Given the description of an element on the screen output the (x, y) to click on. 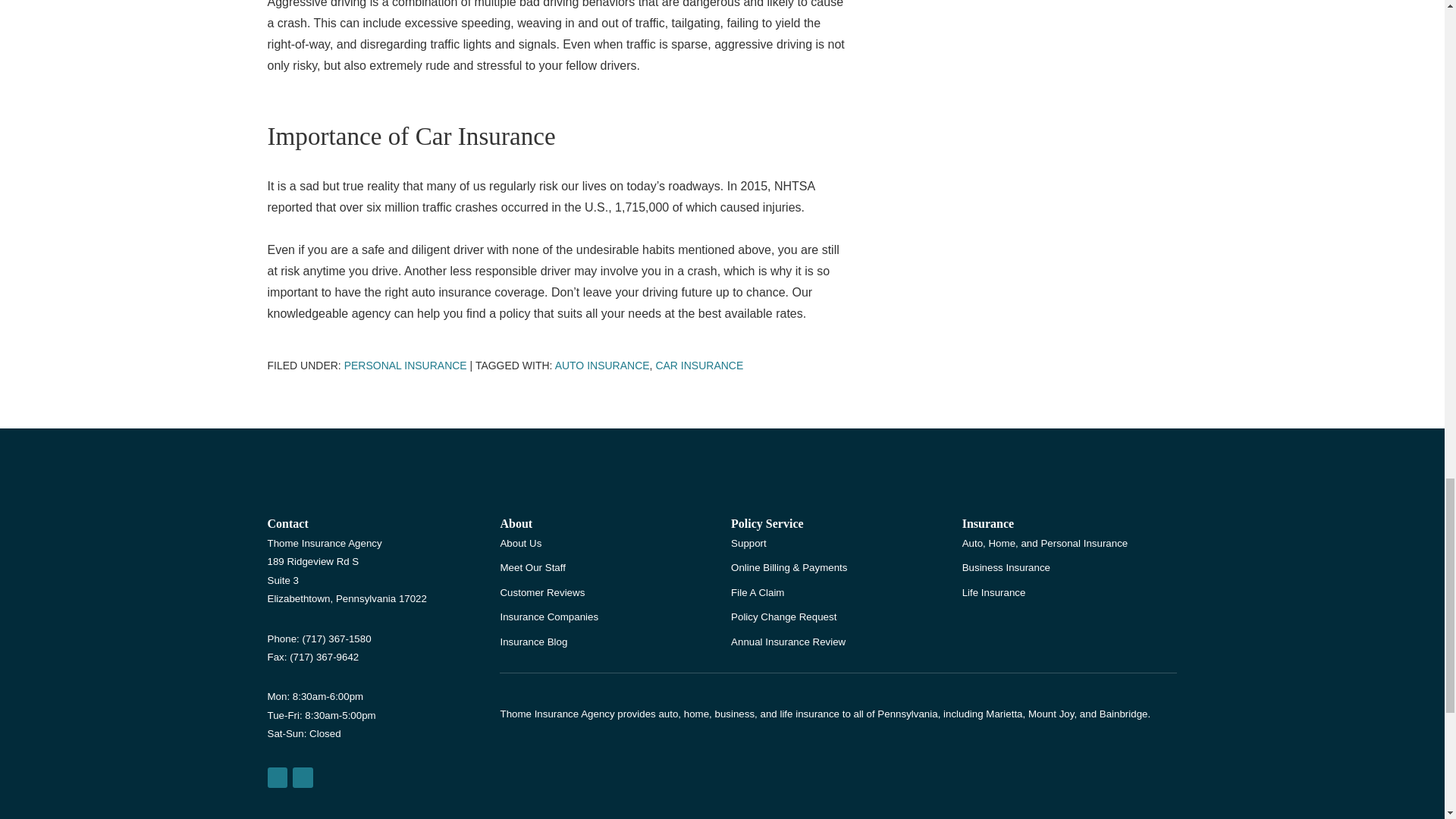
Auto Insurance (601, 365)
Personal Insurance (405, 365)
Google Maps (276, 777)
Facebook (302, 777)
Car Insurance (698, 365)
